Given the description of an element on the screen output the (x, y) to click on. 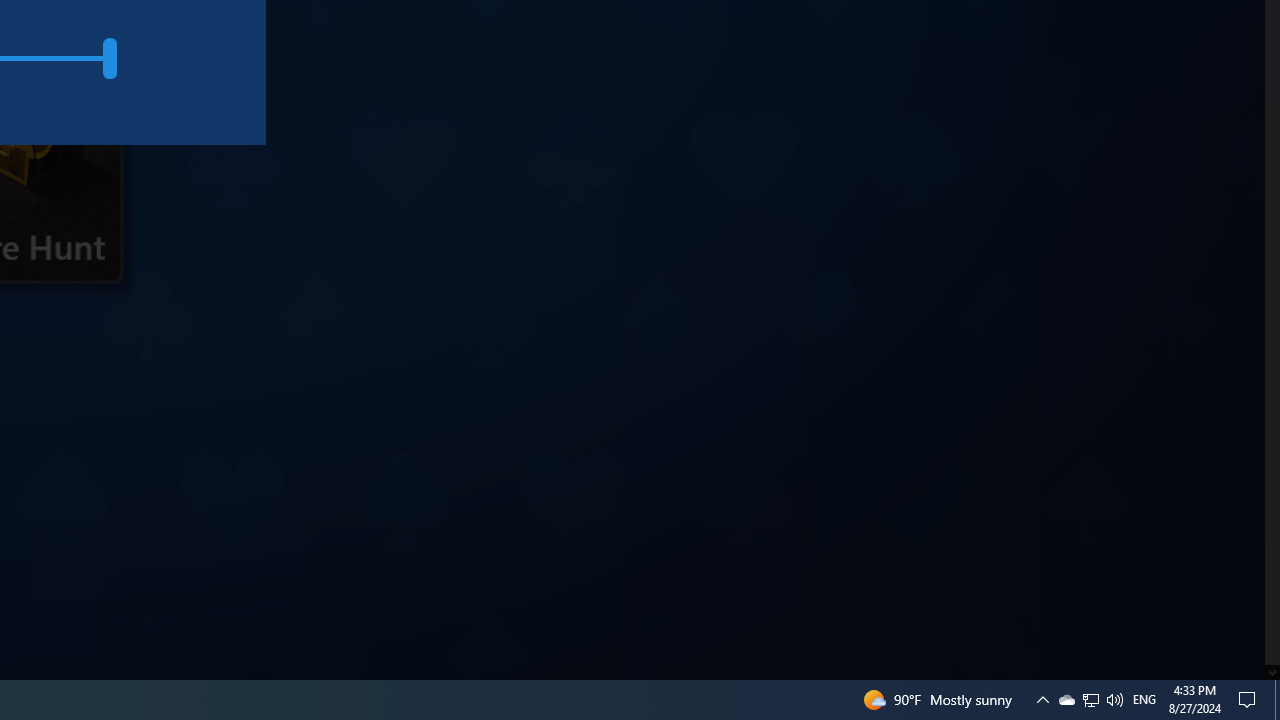
AutomationID: down_arrow_0 (1272, 672)
Tray Input Indicator - English (United States) (1144, 699)
Action Center, No new notifications (1250, 699)
